Given the description of an element on the screen output the (x, y) to click on. 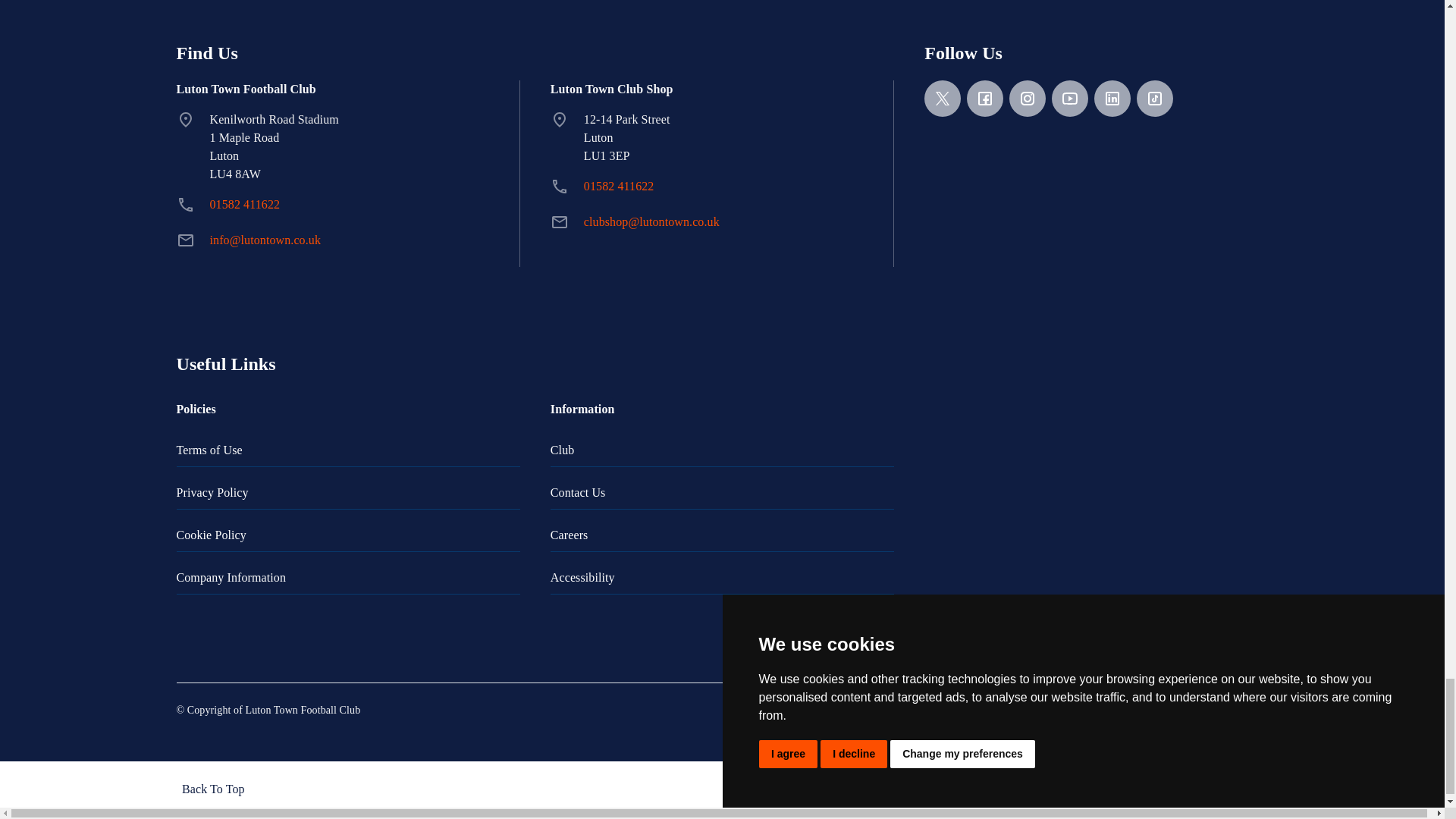
01582 411622 (244, 204)
Company Information (347, 577)
Terms of Use (347, 450)
Cookie Policy (347, 535)
Privacy Policy (347, 492)
Cookie Policy (347, 535)
Club (721, 450)
Company Information (347, 577)
Terms of Use (347, 450)
Privacy Policy (347, 492)
Club (721, 450)
01582 411622 (618, 185)
01582 411622 (244, 204)
01582 411622 (618, 185)
